Given the description of an element on the screen output the (x, y) to click on. 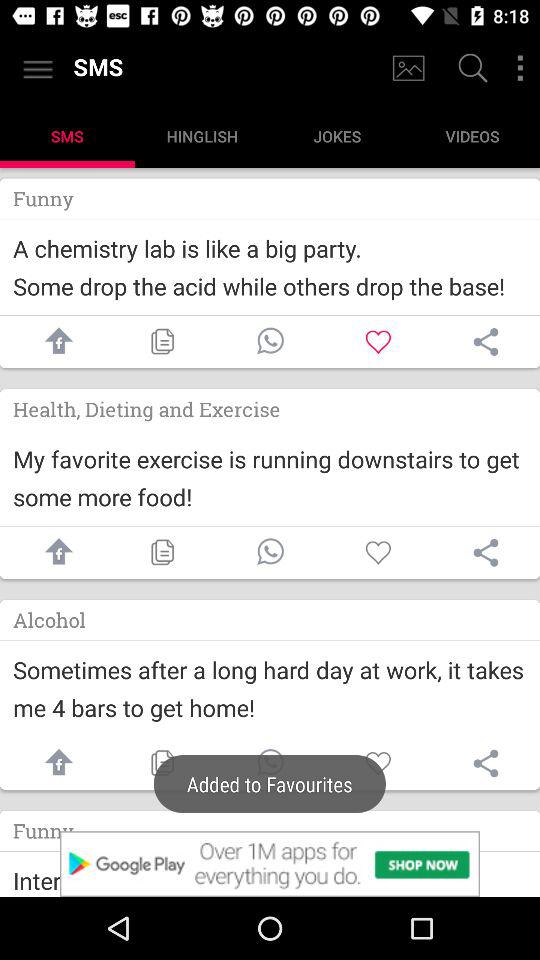
share the article (54, 763)
